Given the description of an element on the screen output the (x, y) to click on. 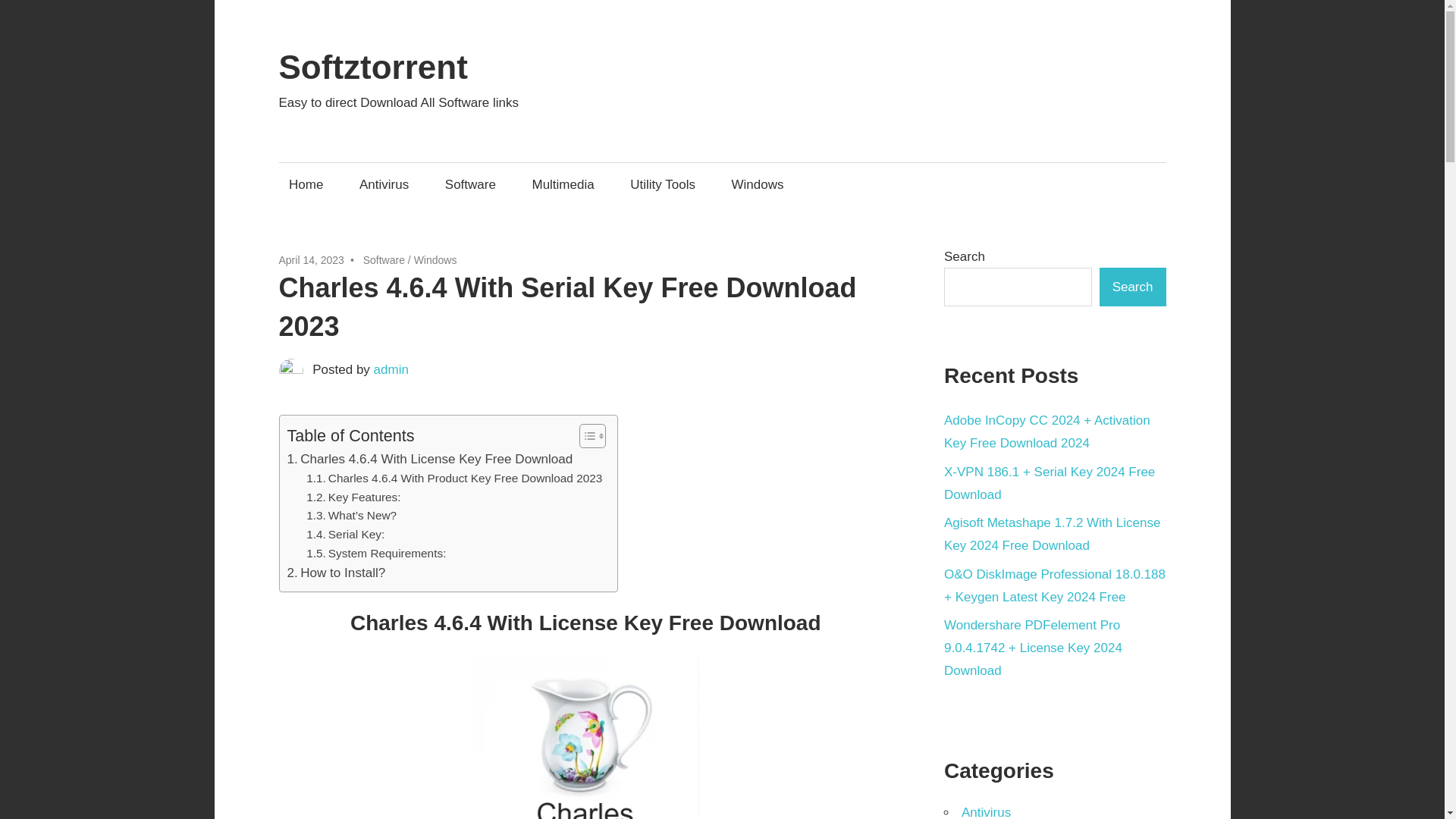
Charles 4.6.4 With Product Key Free Download 2023 (453, 478)
Charles 4.6.4 With License Key Free Download (429, 458)
System Requirements: (375, 553)
Charles 4.6.4 With License Key Free Download (429, 458)
Serial Key: (344, 534)
Charles 4.6.4  (584, 738)
System Requirements: (375, 553)
1:44 am (311, 259)
Software (469, 184)
Windows (756, 184)
Multimedia (562, 184)
Serial Key: (344, 534)
Software (383, 259)
Charles 4.6.4 With Product Key Free Download 2023 (453, 478)
Windows (435, 259)
